Given the description of an element on the screen output the (x, y) to click on. 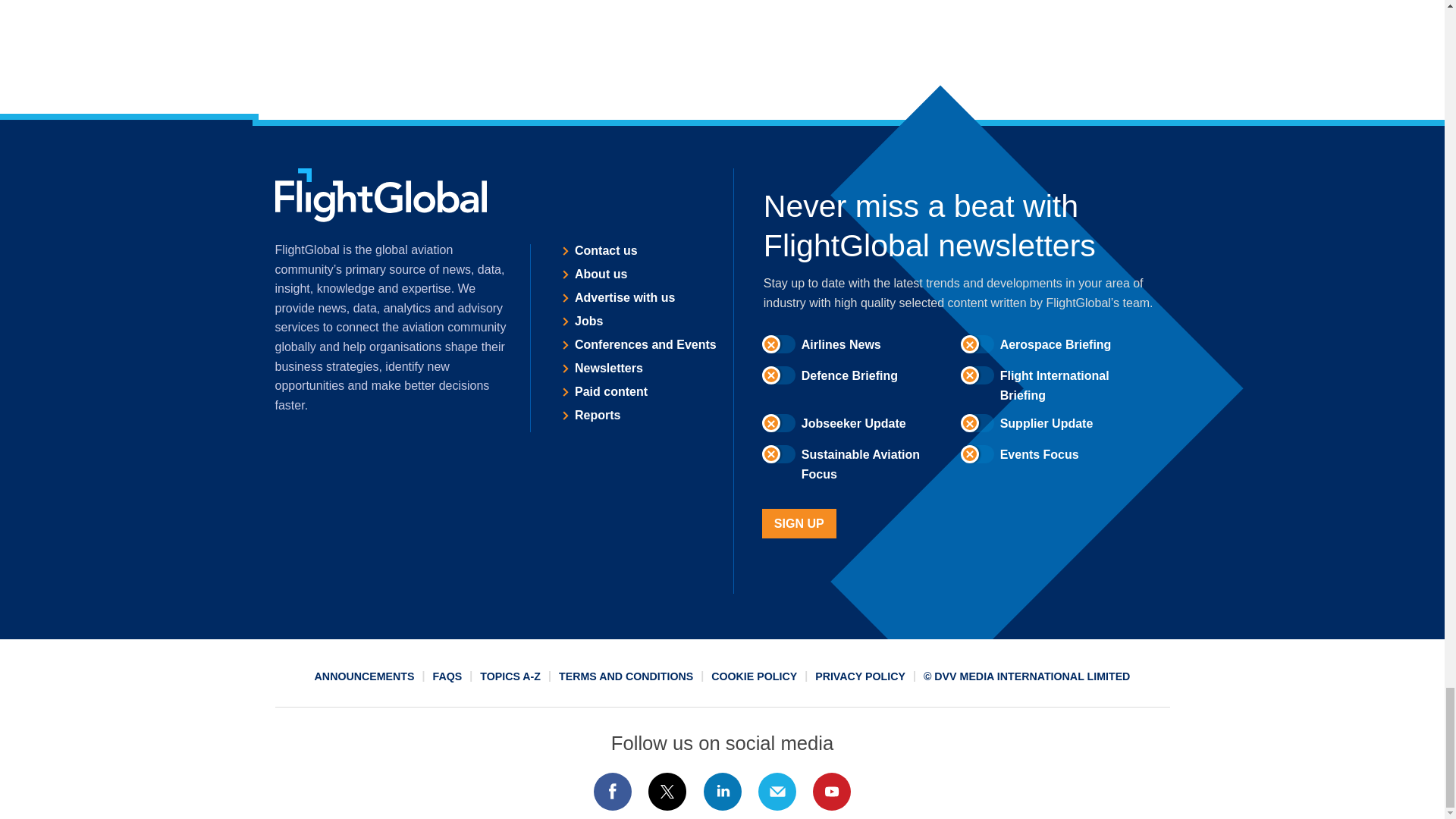
Email us (776, 791)
Connect with us on Youtube (831, 791)
Connect with us on Twitter (667, 791)
Connect with us on Linked In (721, 791)
Connect with us on Facebook (611, 791)
